Given the description of an element on the screen output the (x, y) to click on. 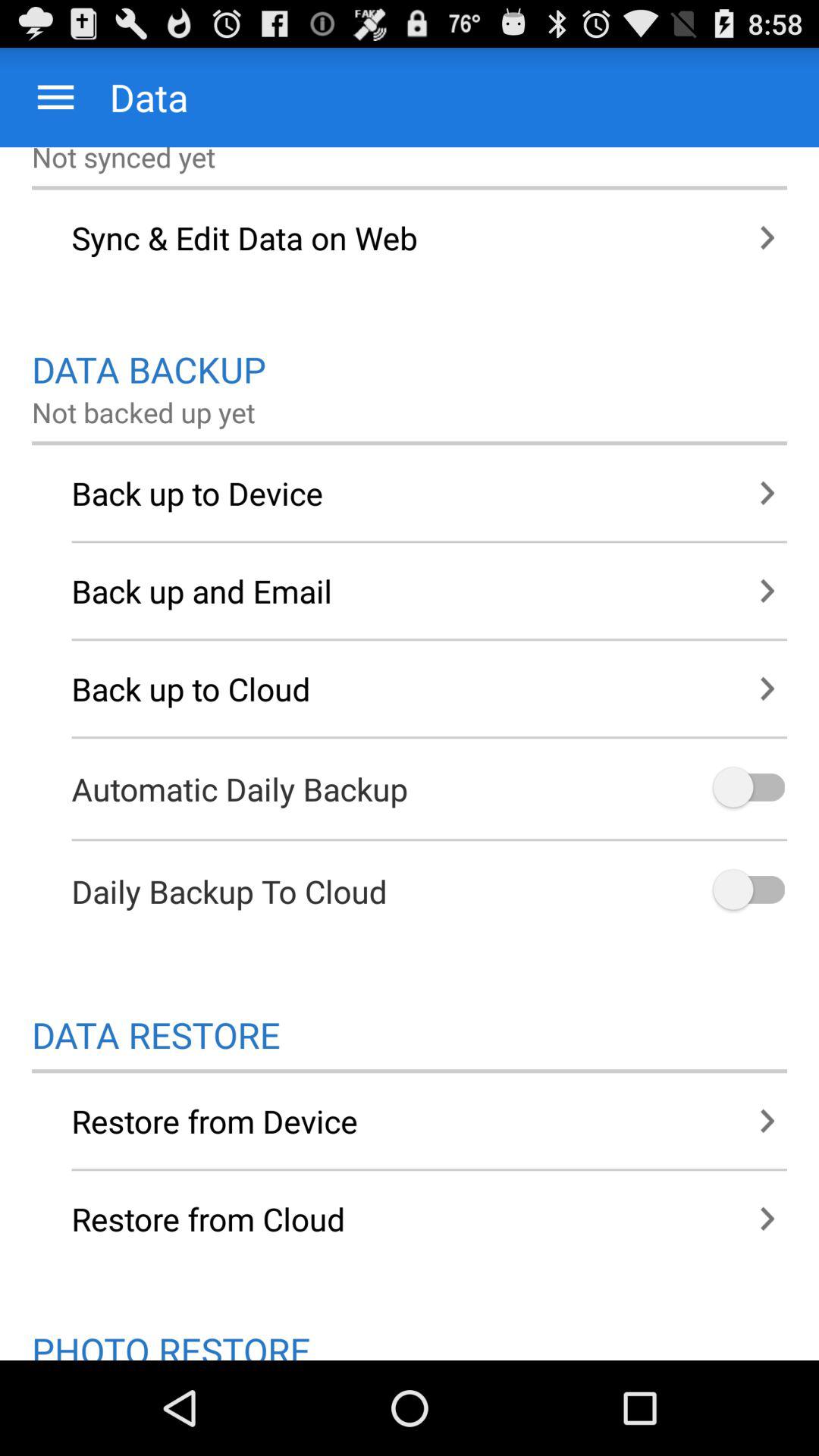
swipe to the sync edit data (409, 237)
